Given the description of an element on the screen output the (x, y) to click on. 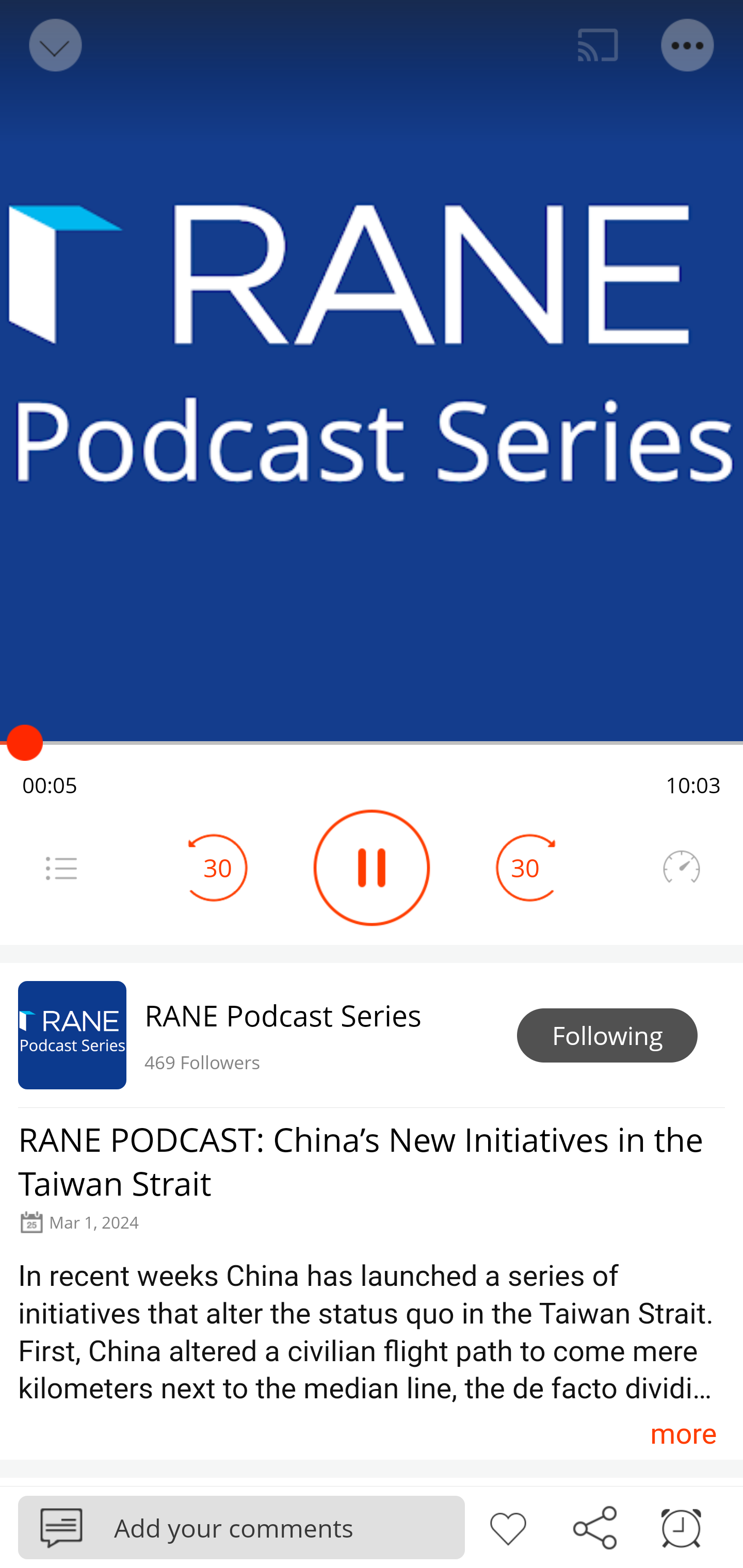
Back (53, 45)
Cast. Disconnected (597, 45)
Menu (688, 45)
Play (371, 867)
30 Seek Backward (217, 867)
30 Seek Forward (525, 867)
Menu (60, 867)
Speedometer (681, 867)
RANE Podcast Series 469 Followers Following (371, 1034)
Following (607, 1035)
more (682, 1432)
Like (508, 1526)
Share (594, 1526)
Sleep timer (681, 1526)
Podbean Add your comments (241, 1526)
